Given the description of an element on the screen output the (x, y) to click on. 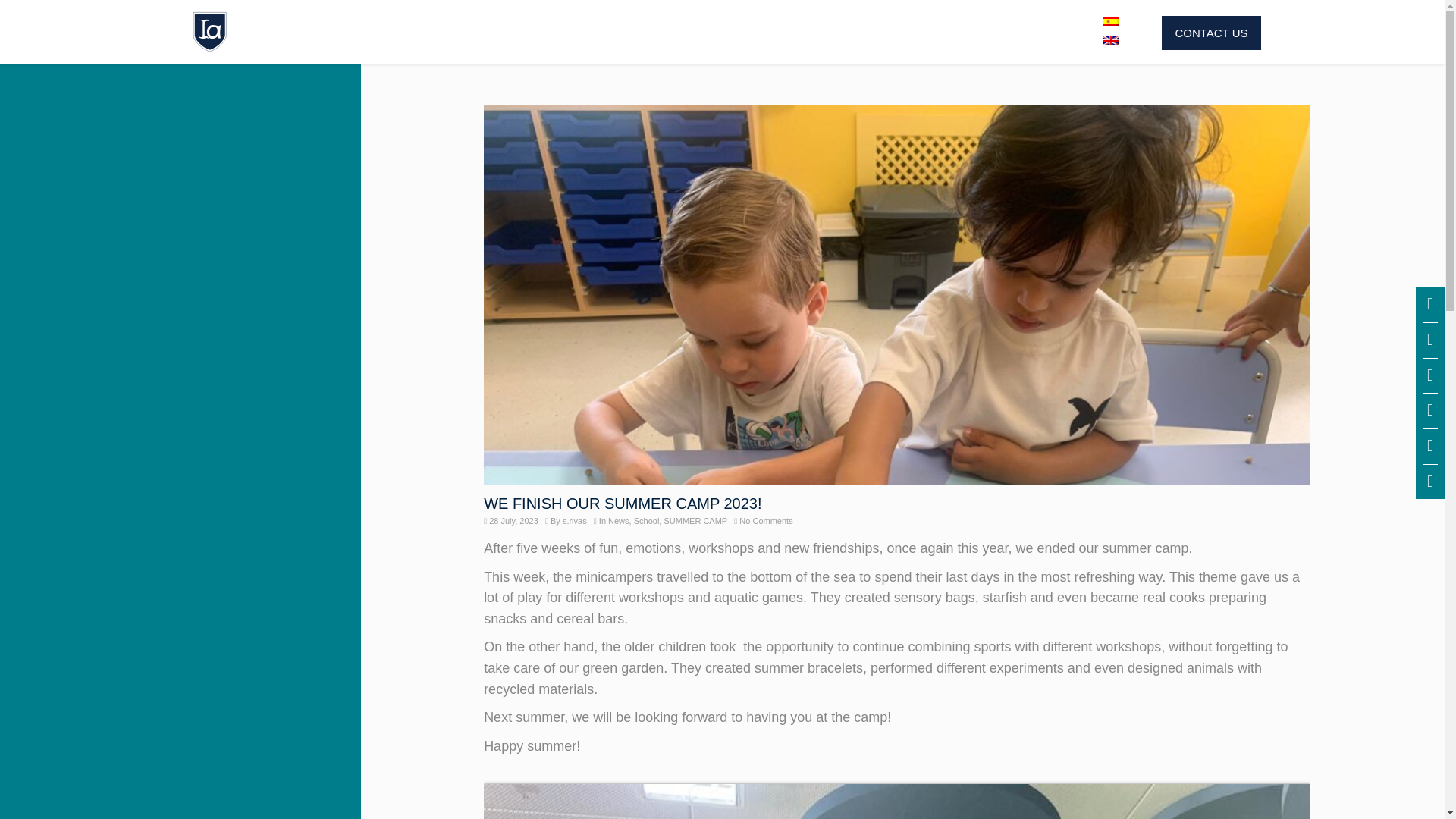
NEWS (925, 31)
CONTACT US (1210, 32)
CONTACT (1029, 31)
OUR SCHOOL (400, 31)
ADMISSIONS (540, 31)
LEARNING (671, 31)
SCHOOL LIFE (804, 31)
